Given the description of an element on the screen output the (x, y) to click on. 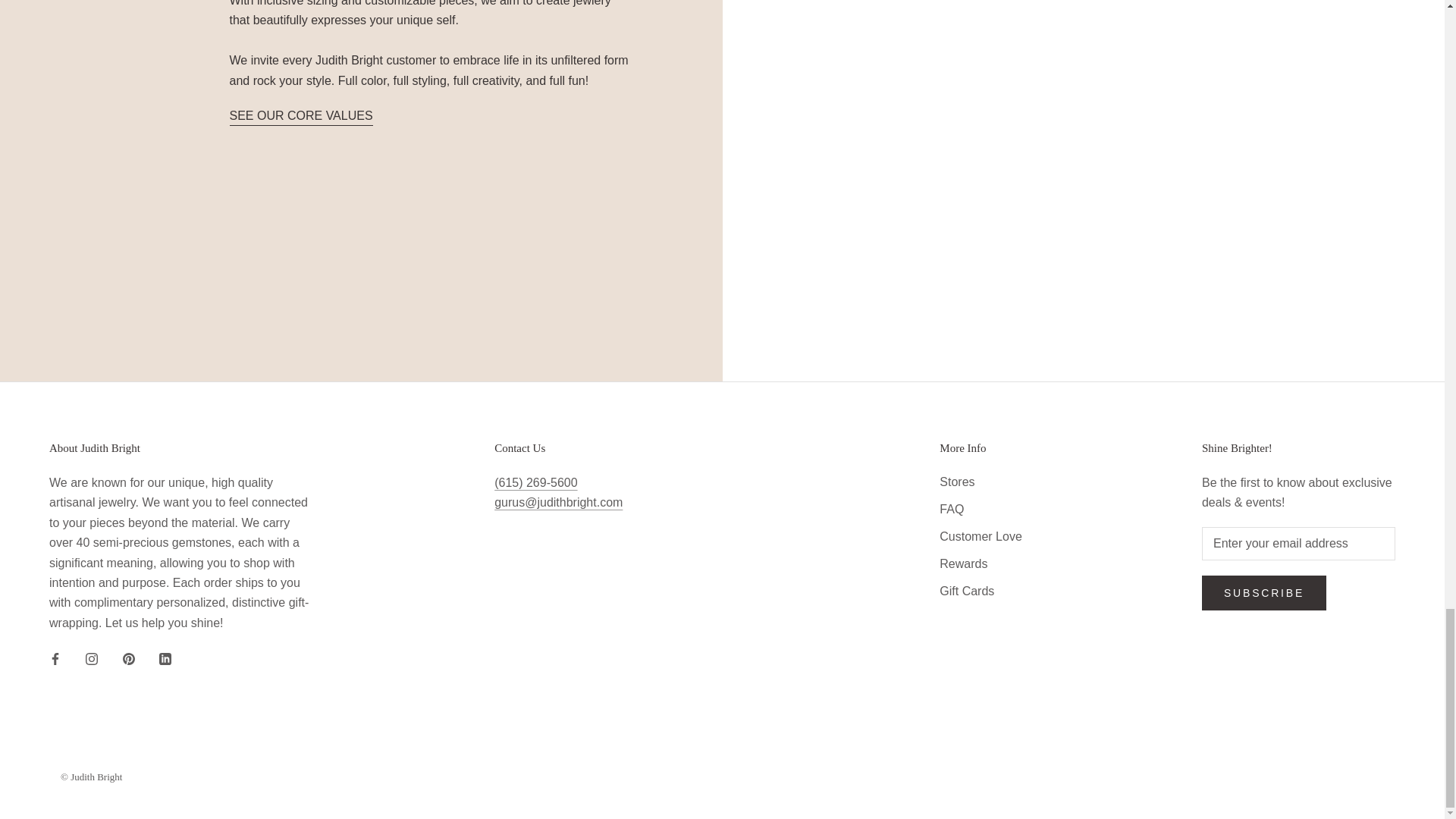
tel:615-269-5600 (535, 481)
